Given the description of an element on the screen output the (x, y) to click on. 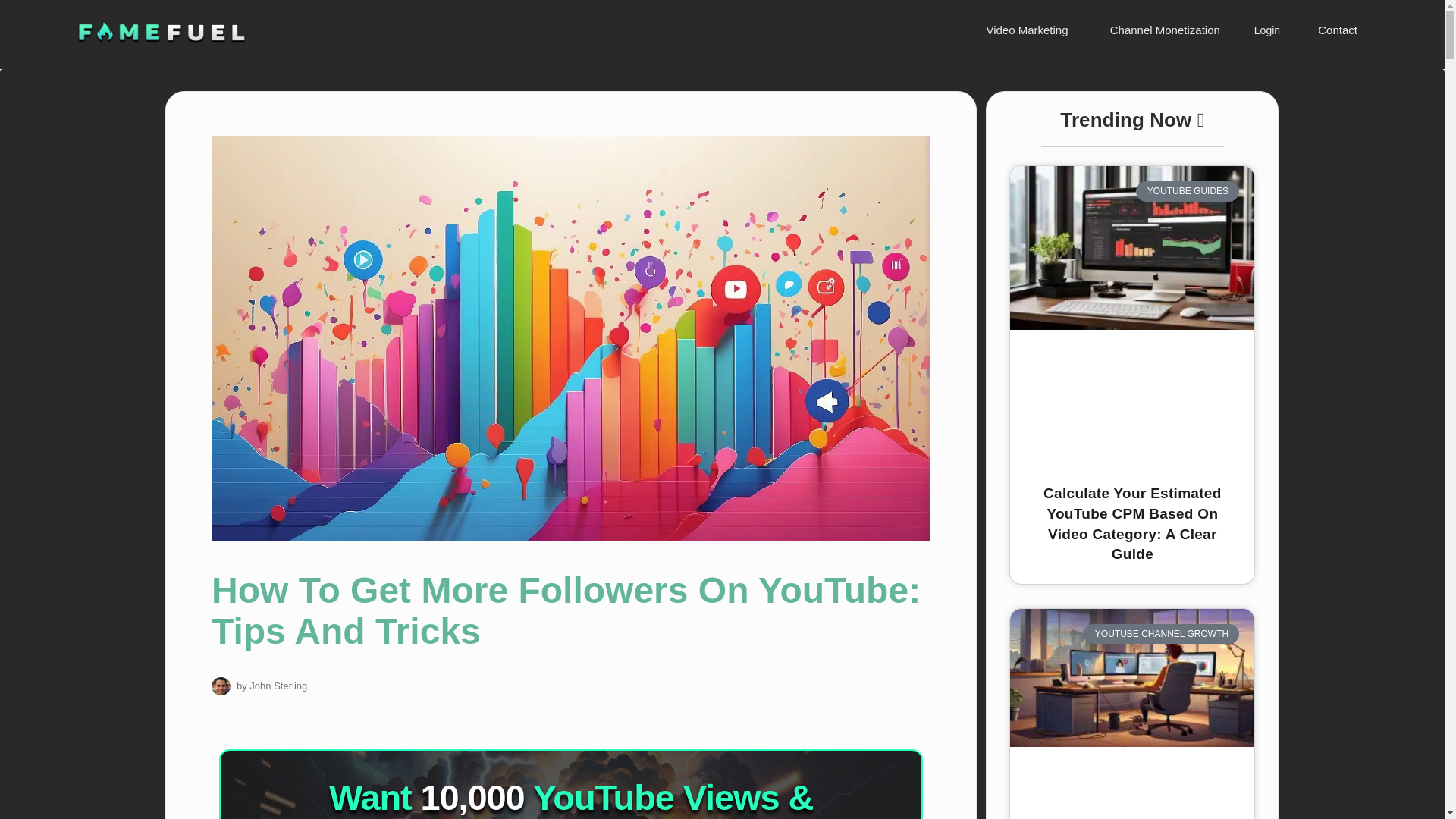
Video Marketing (1024, 30)
Channel Monetization (1163, 30)
Login (1267, 30)
Contact (1335, 30)
